Given the description of an element on the screen output the (x, y) to click on. 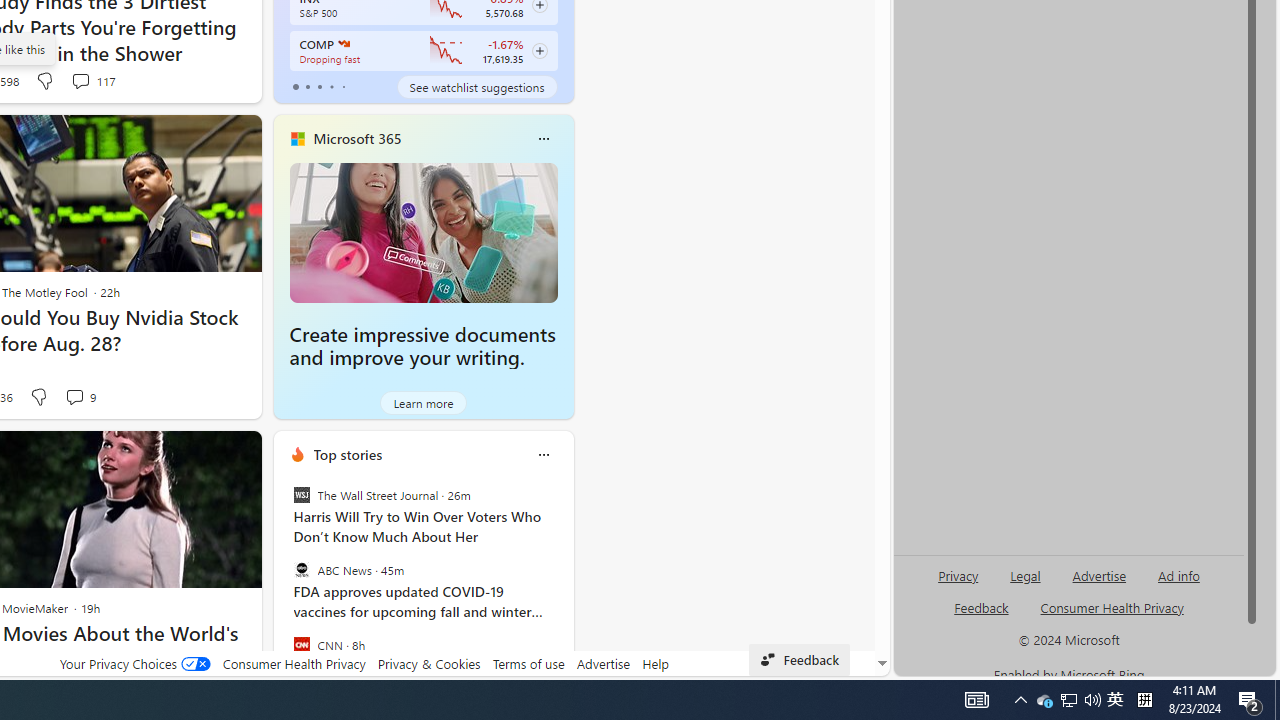
Top stories (347, 454)
CNN (301, 644)
Learn more (423, 402)
View comments 117 Comment (80, 80)
Class: follow-button  m (539, 51)
View comments 117 Comment (92, 80)
View comments 9 Comment (74, 396)
AutomationID: sb_feedback (980, 607)
Create impressive documents and improve your writing. (423, 232)
See watchlist suggestions (476, 86)
